Given the description of an element on the screen output the (x, y) to click on. 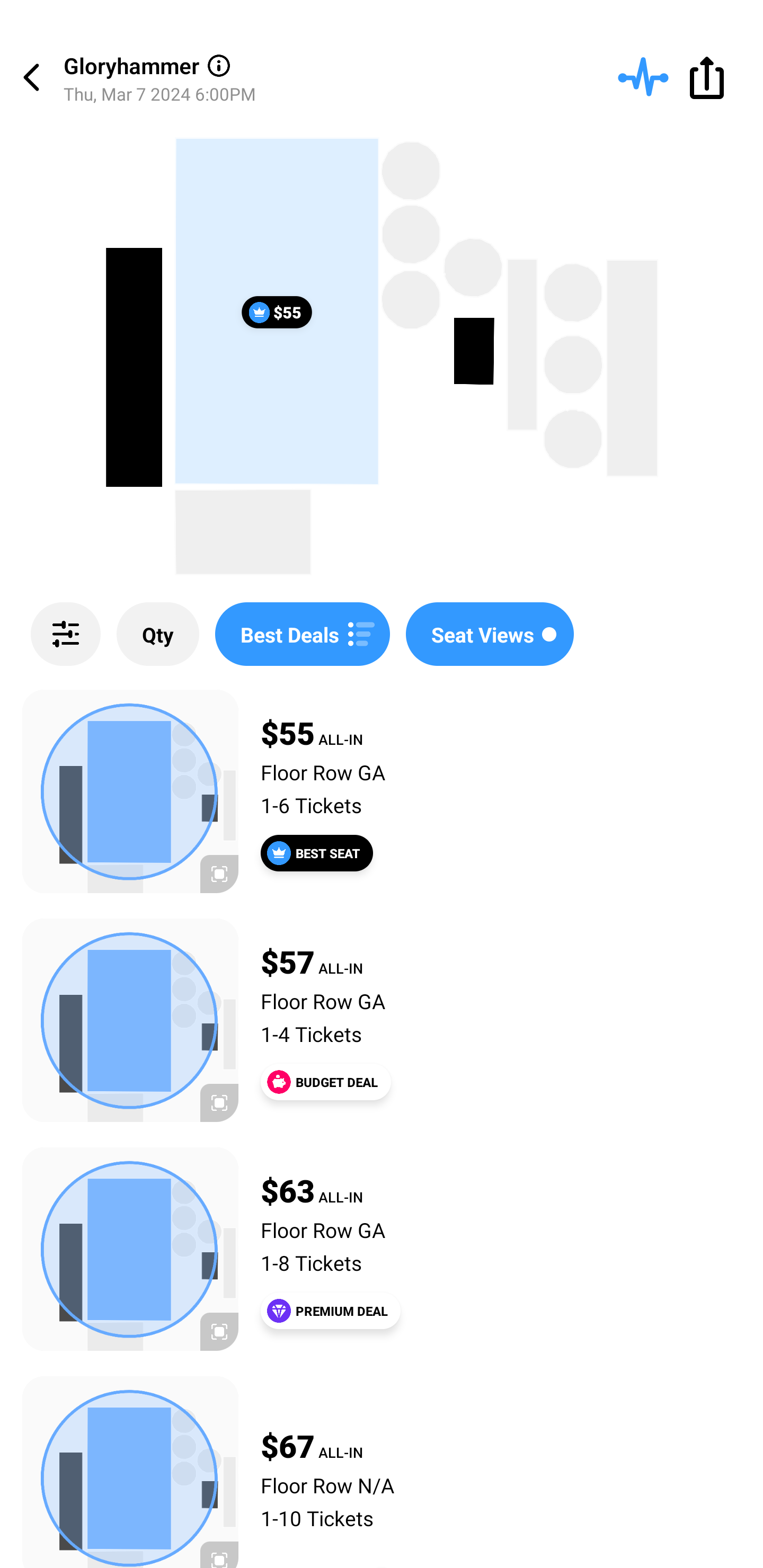
$55 (276, 311)
Qty (157, 634)
Best Deals (302, 634)
Seat Views (489, 634)
BEST SEAT (316, 852)
BUDGET DEAL (325, 1081)
PREMIUM DEAL (330, 1310)
